Given the description of an element on the screen output the (x, y) to click on. 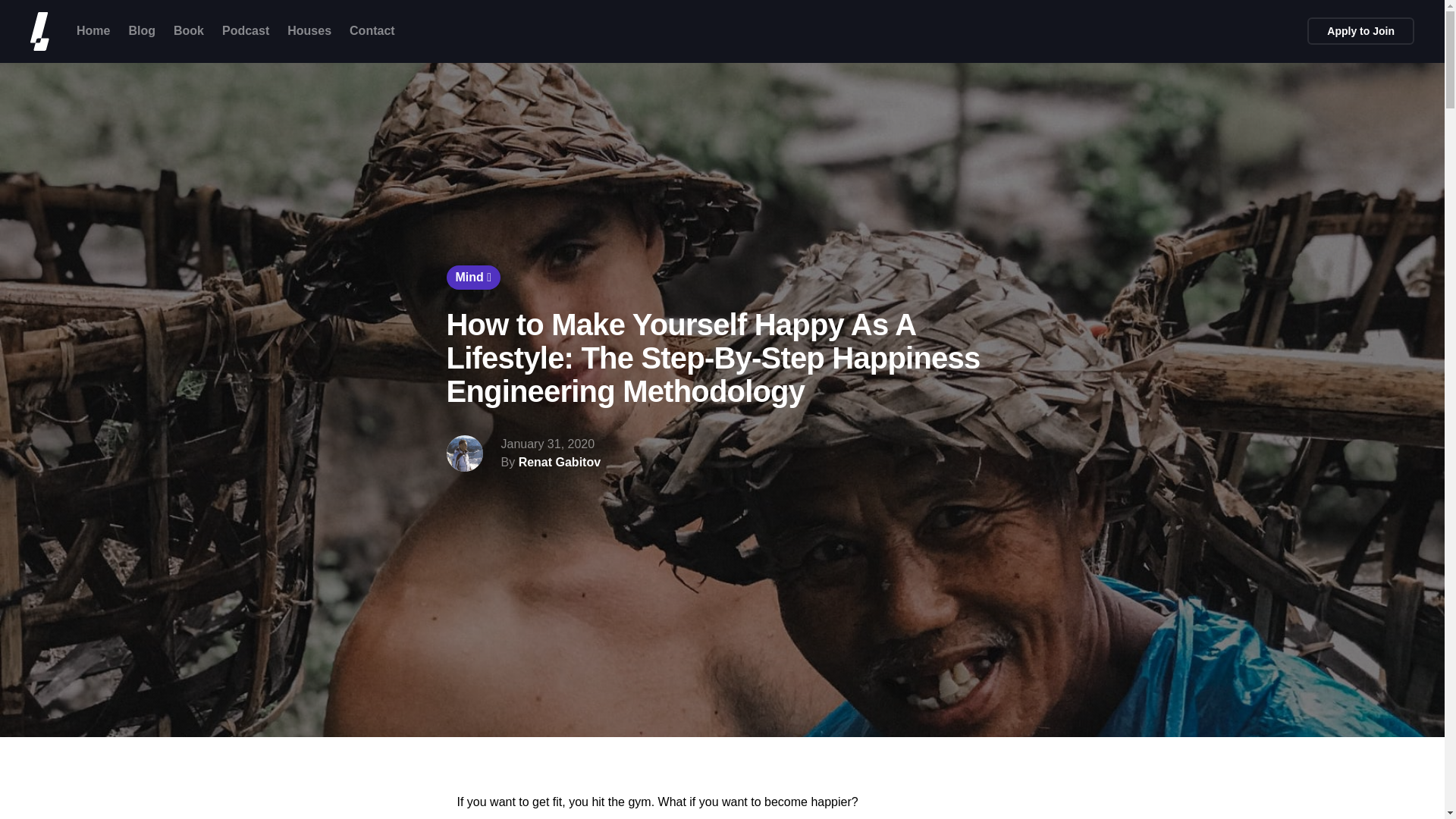
Podcast (245, 31)
Apply to Join (1360, 31)
Contact (371, 31)
Blog (141, 31)
Home (93, 31)
Houses (308, 31)
Renat Gabitov (558, 462)
Book (188, 31)
